Given the description of an element on the screen output the (x, y) to click on. 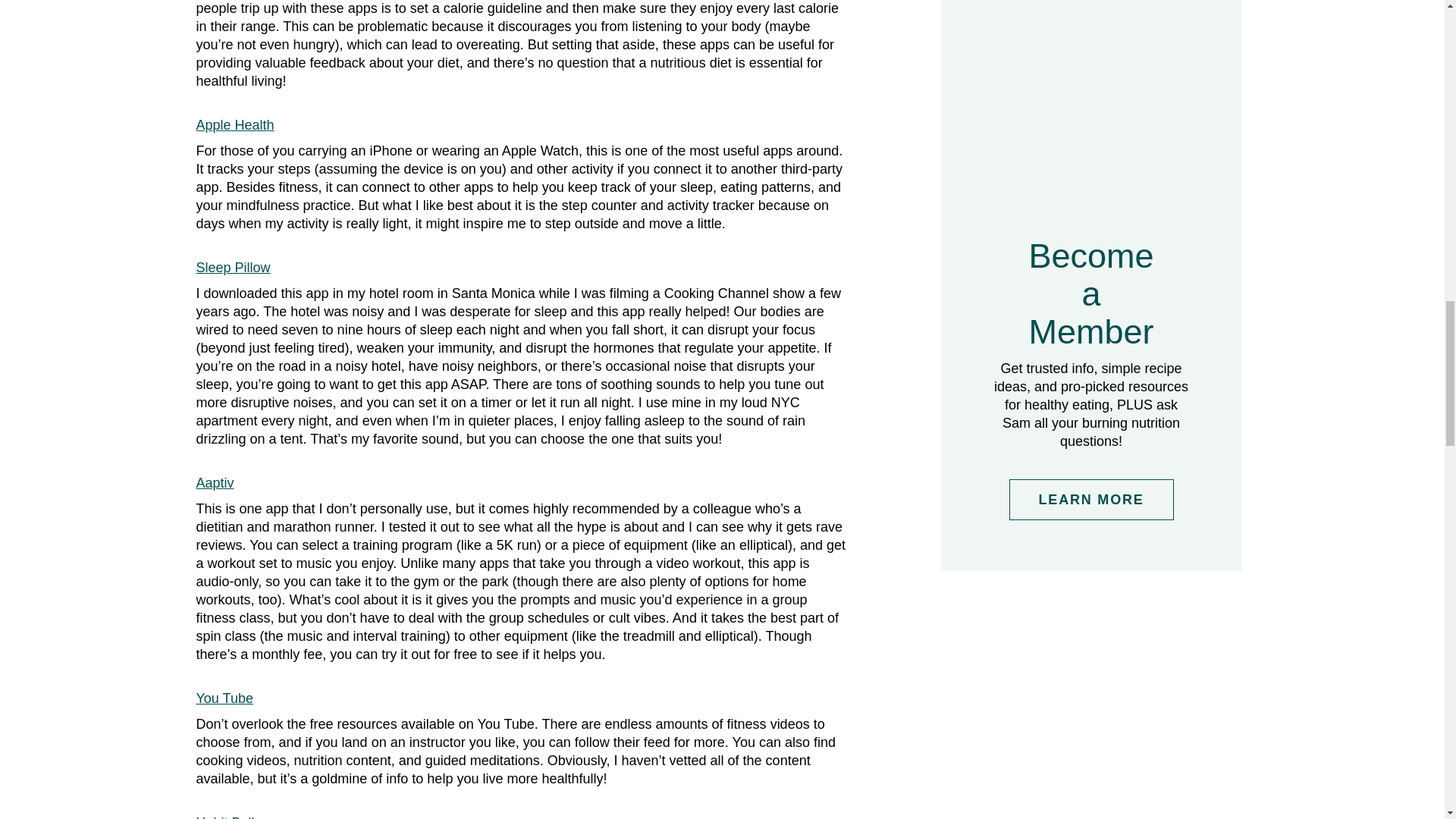
You Tube (223, 698)
LEARN MORE (1091, 499)
Sleep Pillow (232, 267)
Aaptiv (213, 482)
Habit Bull (224, 816)
Apple Health (234, 124)
